Given the description of an element on the screen output the (x, y) to click on. 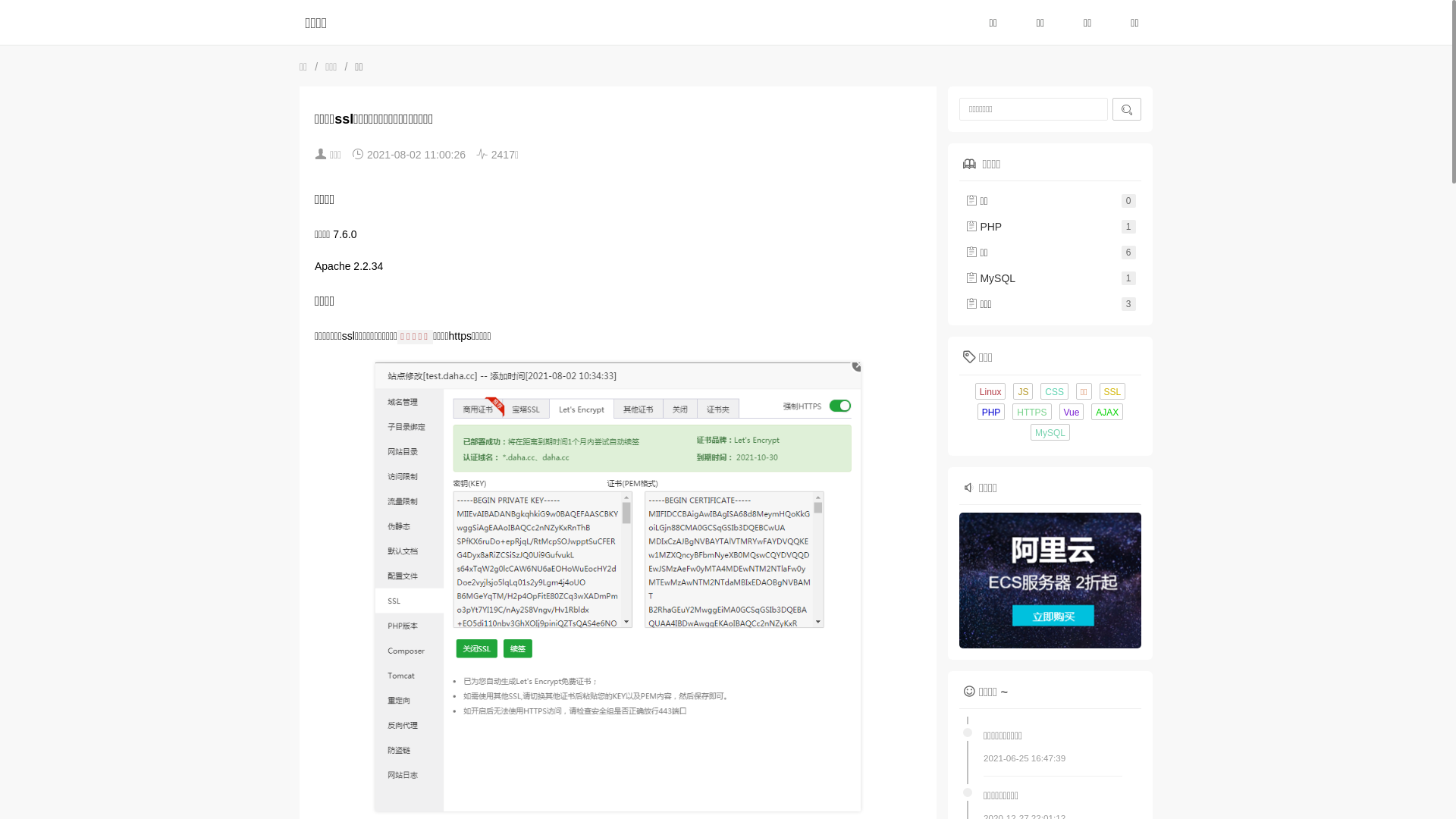
PHP Element type: text (991, 411)
CSS Element type: text (1054, 390)
Linux Element type: text (990, 390)
Vue Element type: text (1070, 411)
AJAX Element type: text (1107, 411)
MySQL Element type: text (1050, 431)
SSL Element type: text (1112, 390)
HTTPS Element type: text (1031, 411)
JS Element type: text (1022, 390)
